Given the description of an element on the screen output the (x, y) to click on. 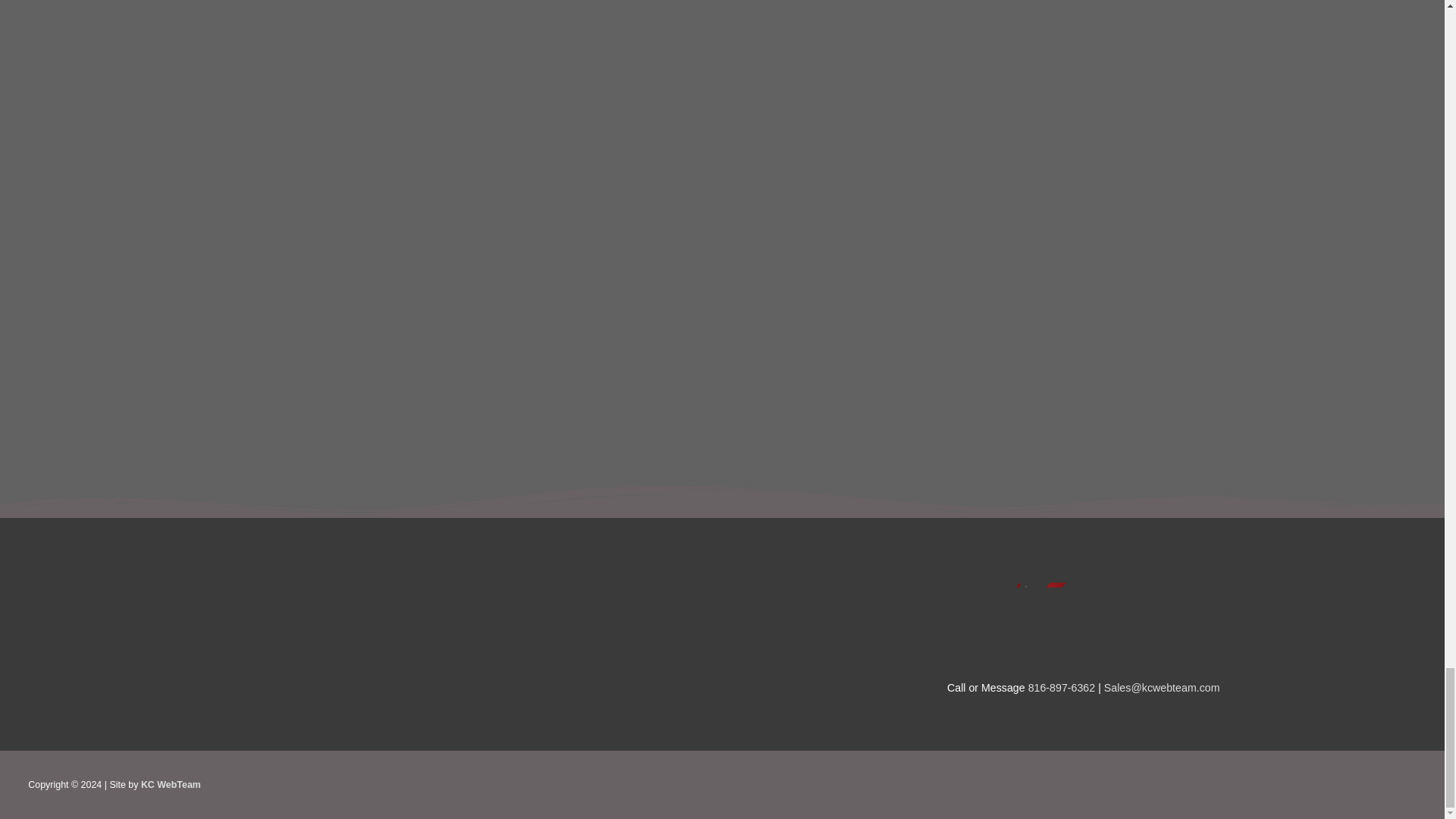
KC WebTeam (170, 784)
816-897-6362 (1061, 687)
